Given the description of an element on the screen output the (x, y) to click on. 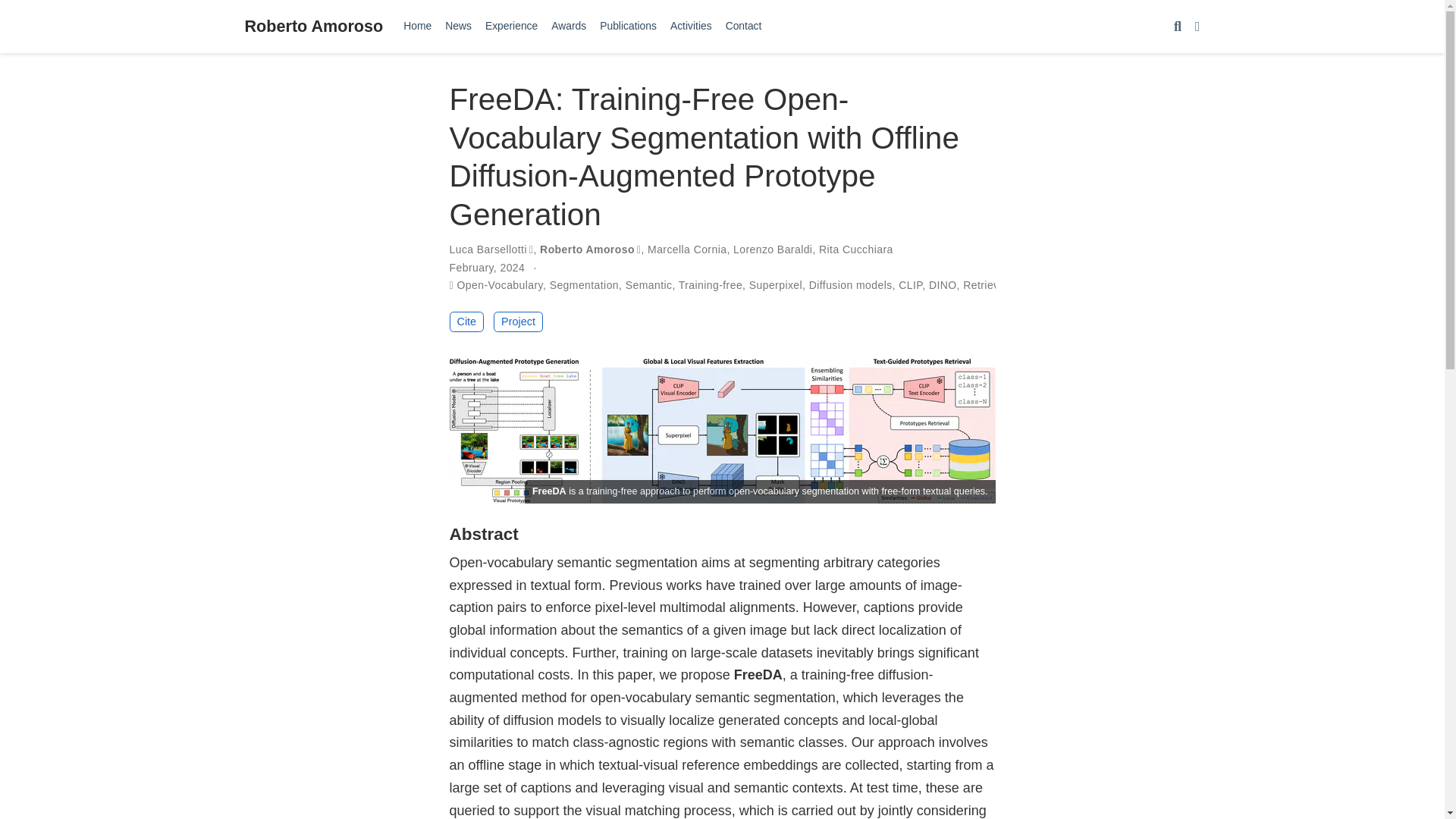
Cite (465, 321)
Superpixel (775, 285)
Roberto Amoroso (313, 26)
Semantic (649, 285)
Publications (627, 26)
Experience (511, 26)
DINO (942, 285)
Activities (691, 26)
Contact (743, 26)
Retrieval (984, 285)
Project (518, 321)
Segmentation (584, 285)
Awards (568, 26)
Open-Vocabulary (500, 285)
Diffusion models (850, 285)
